Given the description of an element on the screen output the (x, y) to click on. 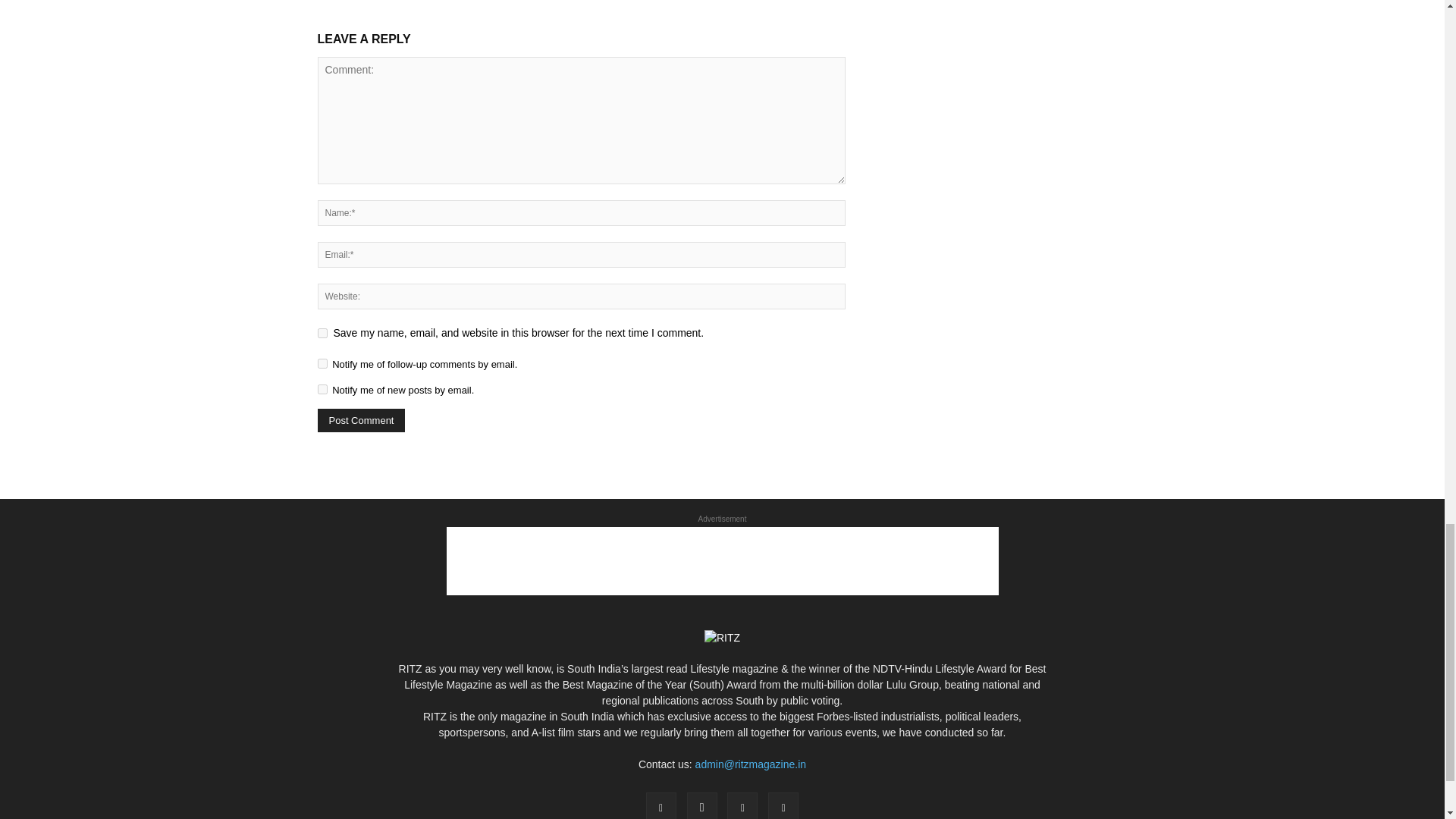
subscribe (321, 363)
subscribe (321, 388)
yes (321, 333)
Post Comment (360, 420)
